Given the description of an element on the screen output the (x, y) to click on. 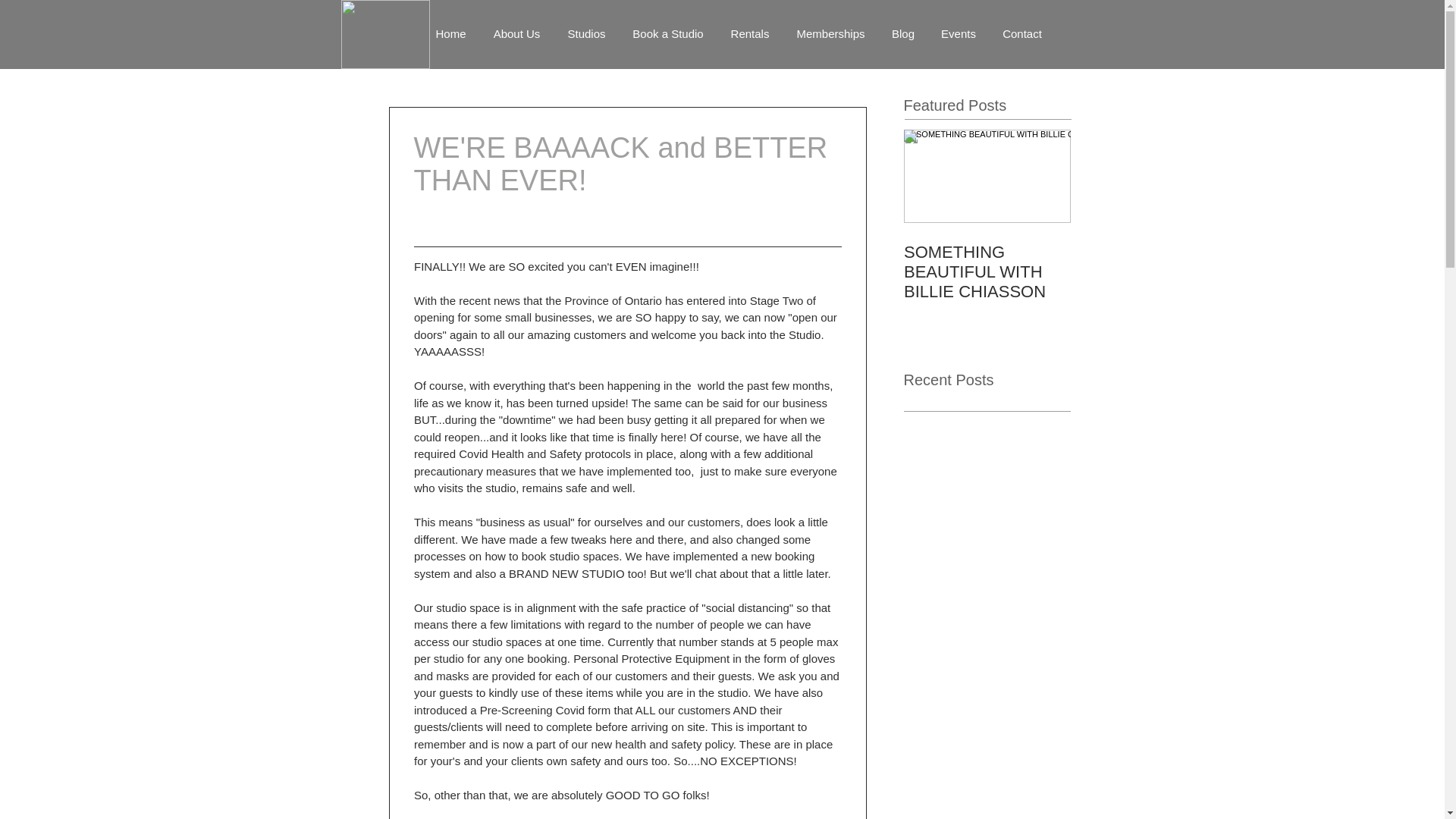
Home (450, 33)
Memberships (830, 33)
Studios (585, 33)
About Us (516, 33)
Rentals (750, 33)
StudioCollectiveIconWhite-01.png (384, 34)
Events (959, 33)
Blog (902, 33)
SOMETHING BEAUTIFUL WITH BILLIE CHIASSON (987, 272)
Contact (1021, 33)
